Given the description of an element on the screen output the (x, y) to click on. 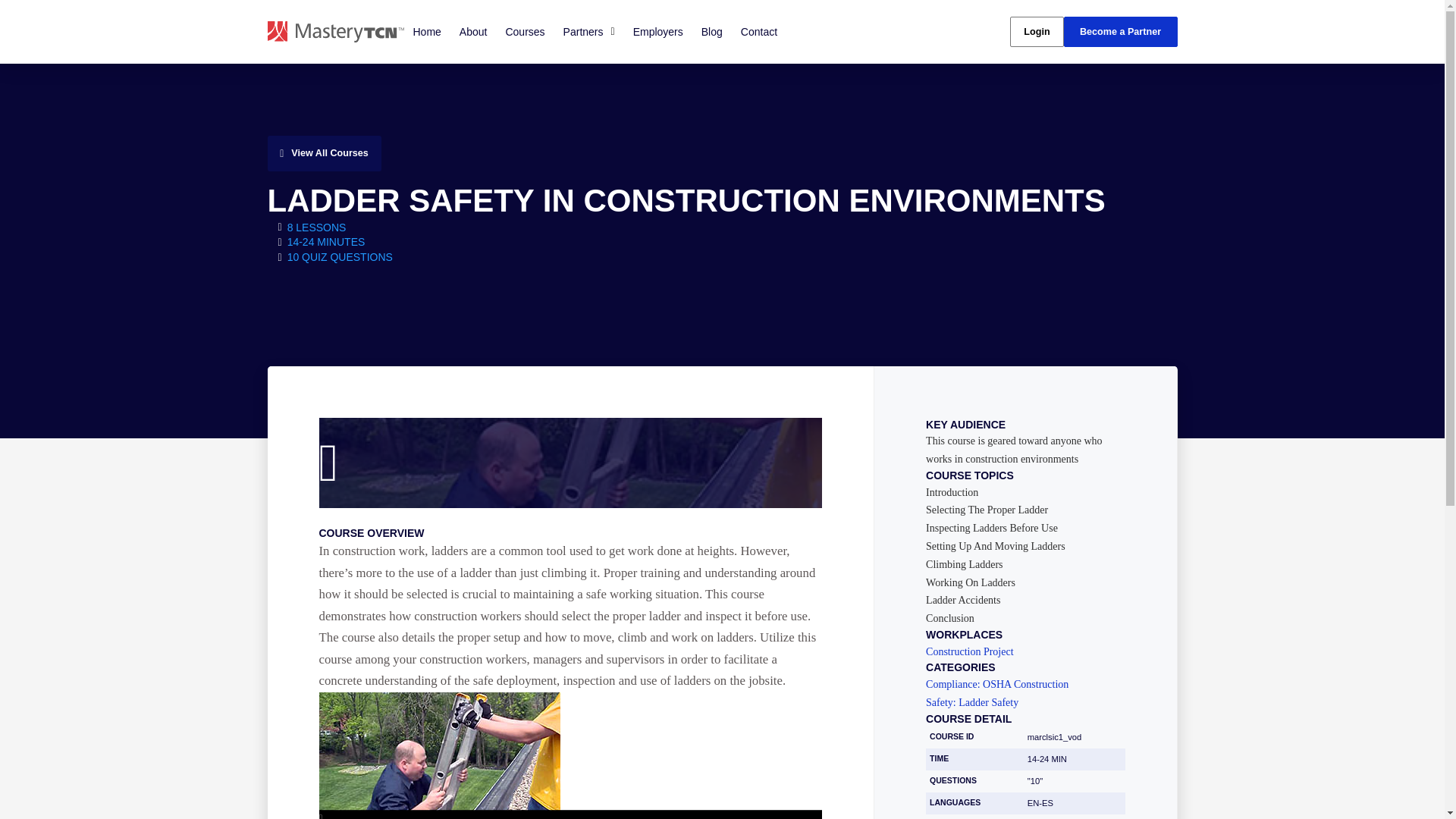
Construction Project (1025, 652)
Compliance: OSHA Construction (1025, 684)
Home (426, 31)
About (472, 31)
Become a Partner (1119, 31)
View All Courses (323, 153)
Login (1036, 31)
Contact (759, 31)
Safety: Ladder Safety (1025, 702)
Courses (524, 31)
